Given the description of an element on the screen output the (x, y) to click on. 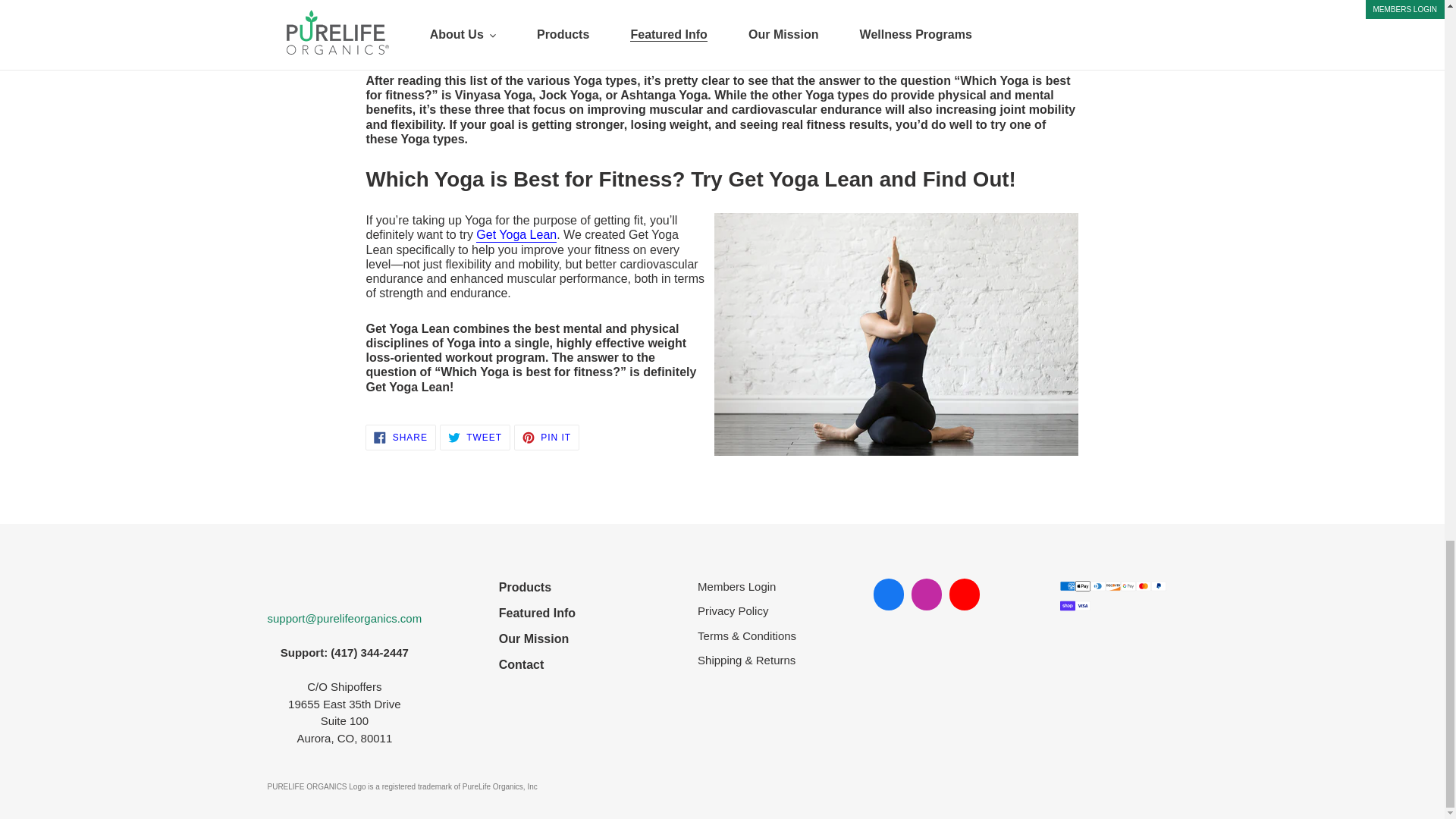
Get Yoga Lean (516, 235)
Our Mission (537, 638)
Privacy Policy (400, 437)
Featured Info (746, 610)
Products (546, 437)
Members Login (537, 613)
Contact (537, 587)
